Given the description of an element on the screen output the (x, y) to click on. 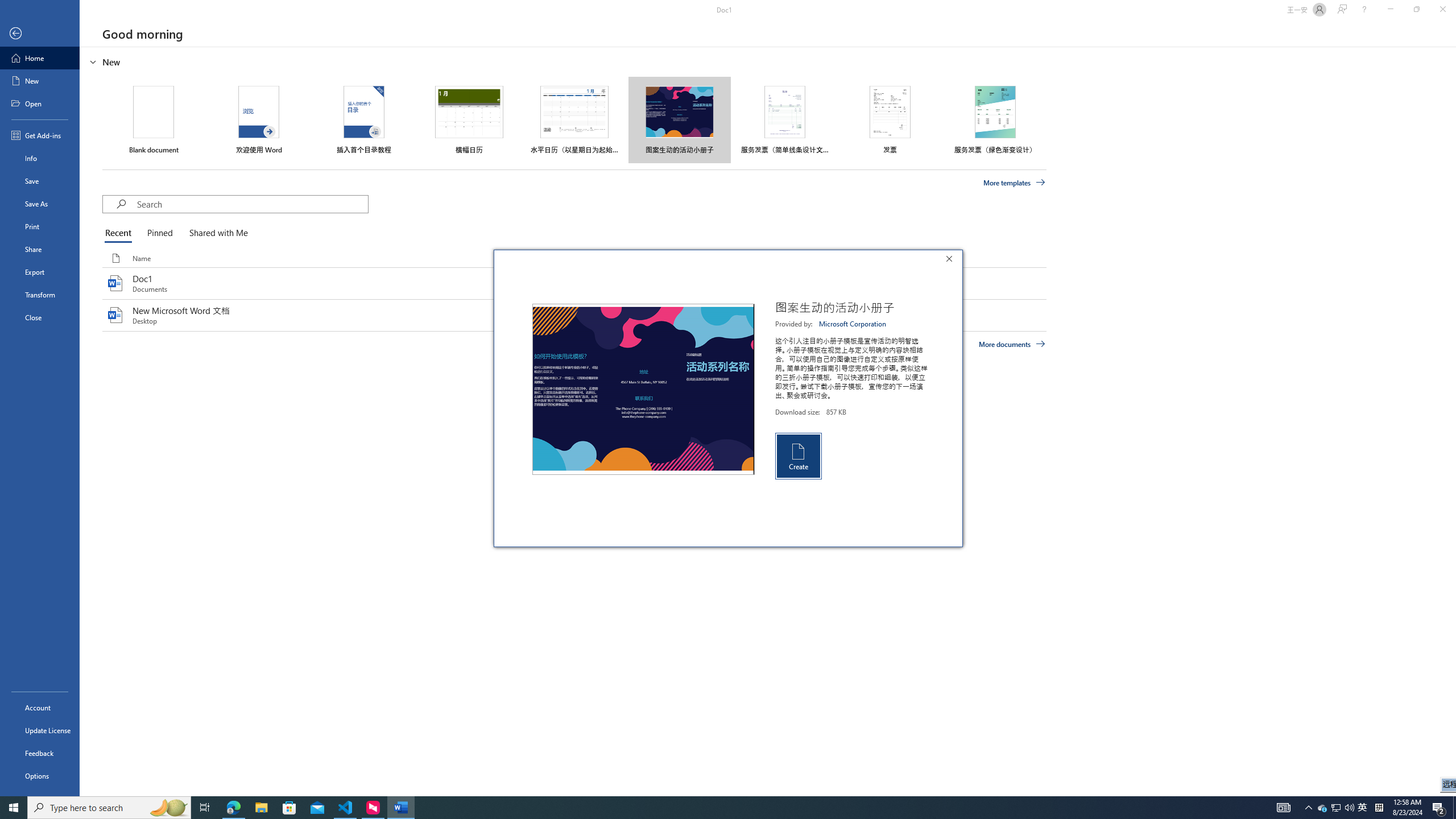
Options (40, 775)
Hide or show region (92, 61)
Recent (119, 233)
Type here to search (108, 807)
Back (40, 33)
